Given the description of an element on the screen output the (x, y) to click on. 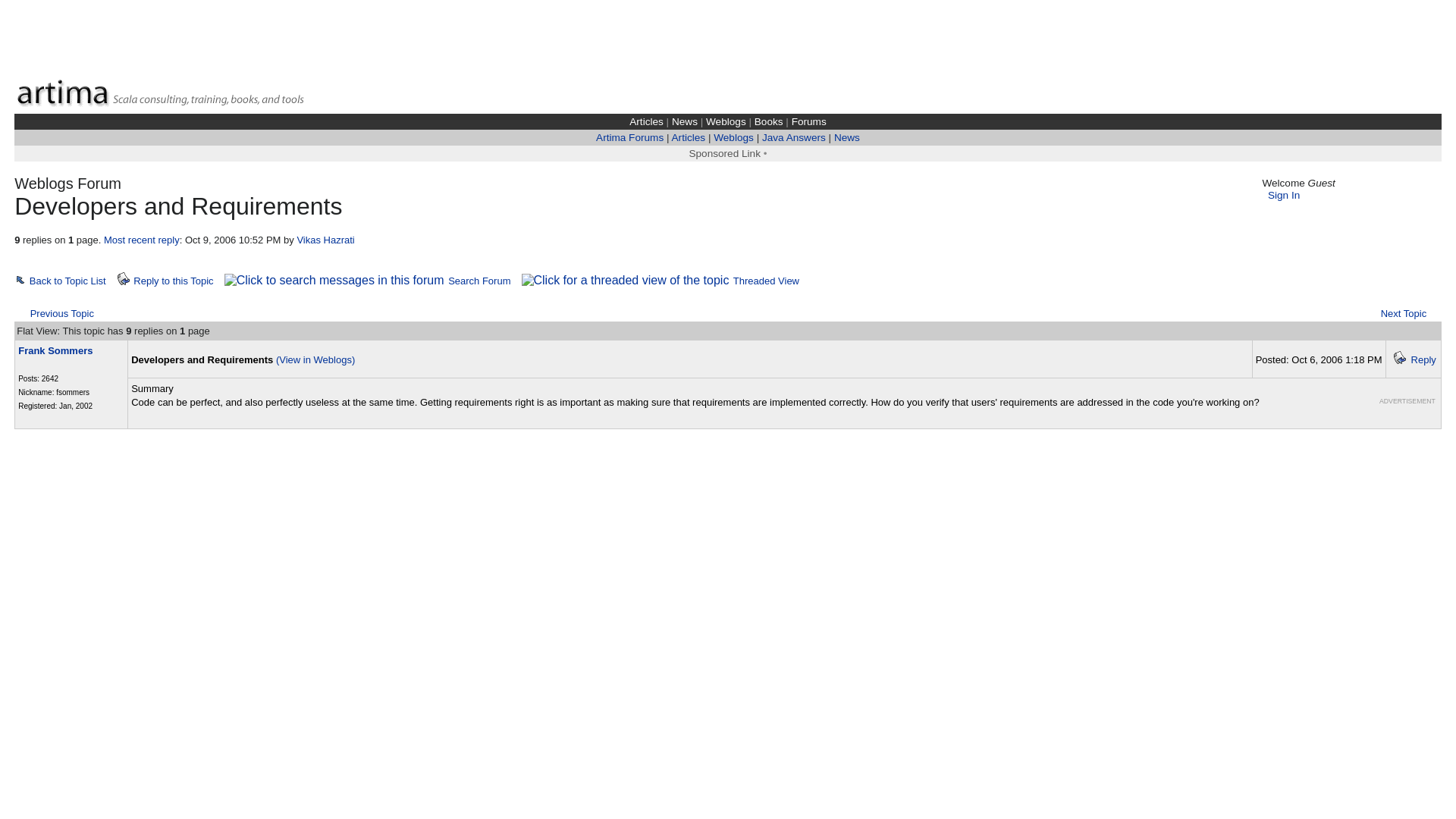
Artima Forums (629, 137)
Go to the most recent message in this topic (141, 239)
Threaded View (766, 279)
Most recent reply (141, 239)
Sign In (1284, 194)
Java Answers (793, 137)
Vikas Hazrati (325, 239)
Weblogs (725, 121)
Frank Sommers (55, 350)
Frank Sommers (55, 350)
